Given the description of an element on the screen output the (x, y) to click on. 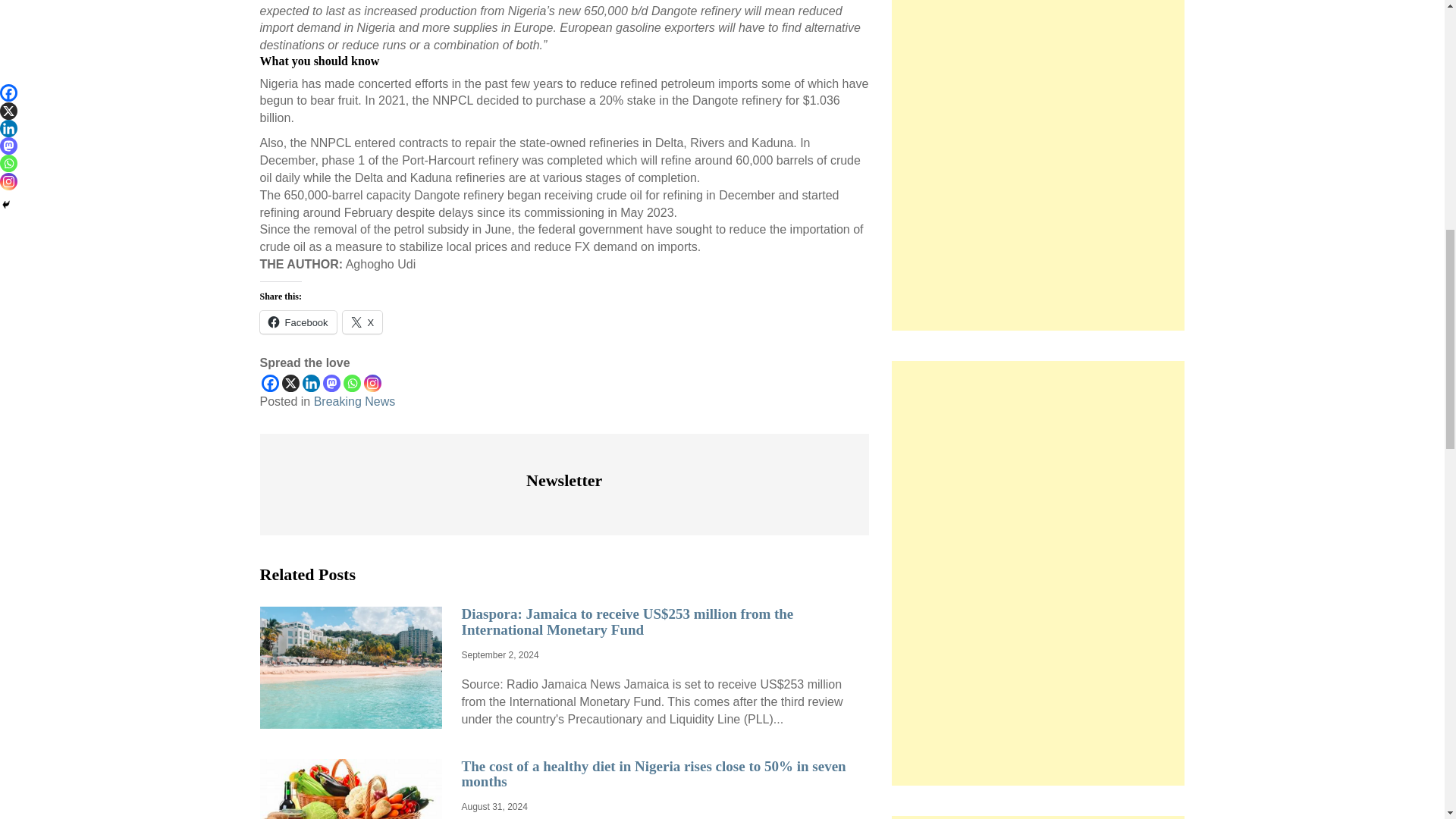
Click to share on X (362, 322)
Click to share on Facebook (297, 322)
Mastodon (331, 383)
Linkedin (309, 383)
X (290, 383)
Whatsapp (350, 383)
Facebook (269, 383)
Instagram (372, 383)
